Given the description of an element on the screen output the (x, y) to click on. 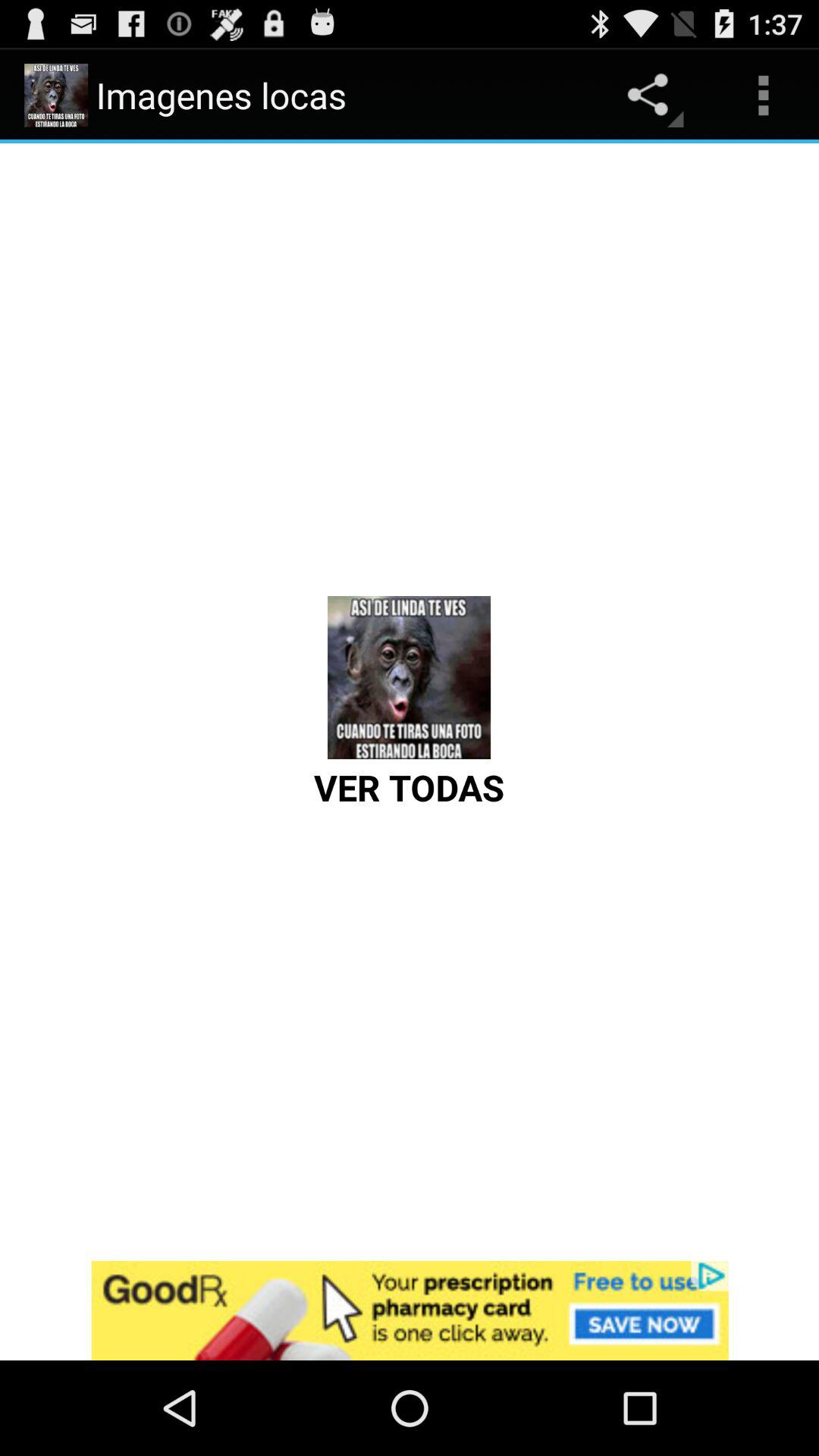
open goodrx advertisement (409, 1310)
